Given the description of an element on the screen output the (x, y) to click on. 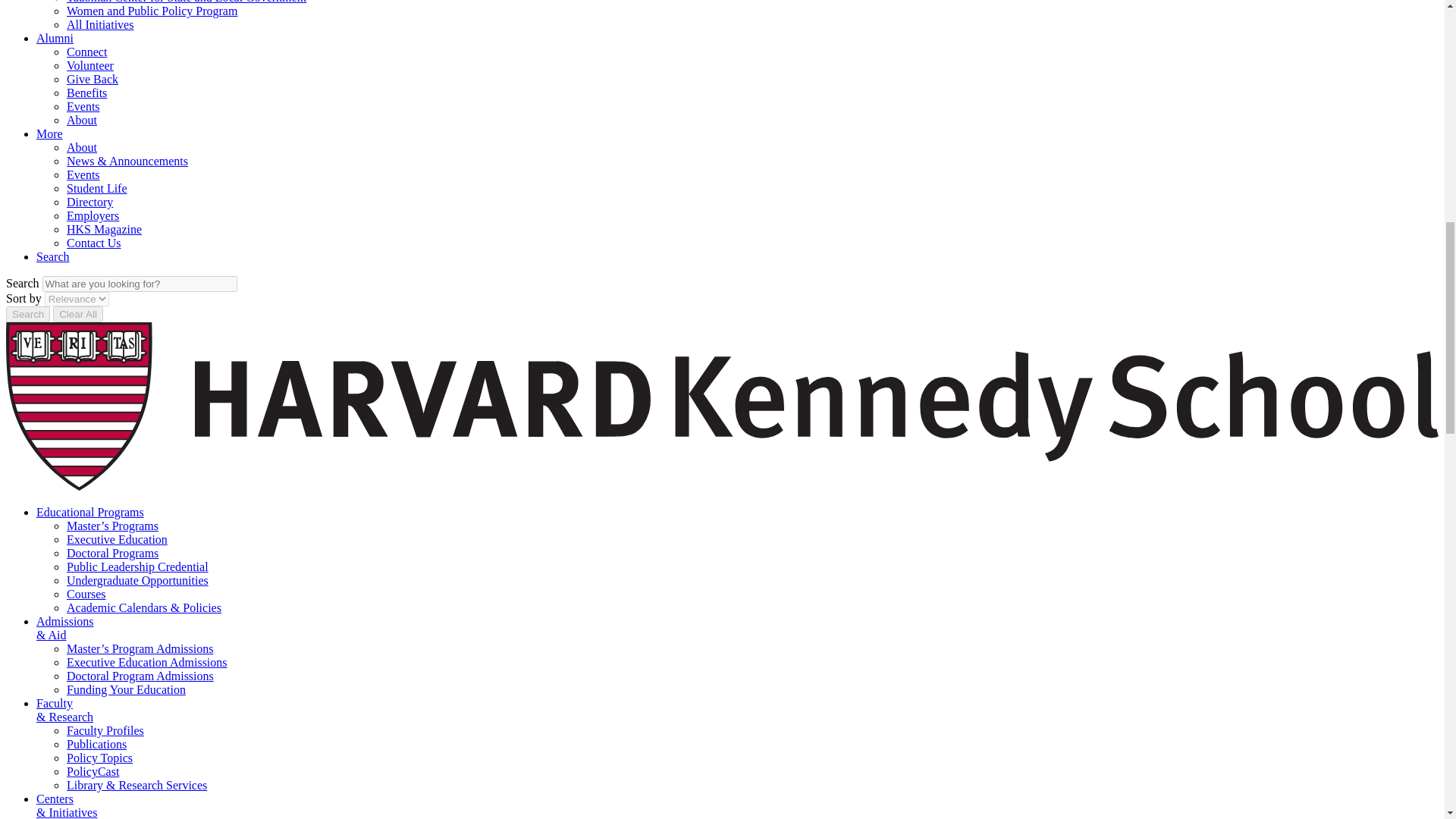
Volunteer (89, 65)
Connect (86, 51)
Alumni (55, 38)
Search (27, 314)
Taubman Center for State and Local Government (185, 2)
Taubman Center for State and Local Government (185, 2)
Events (83, 174)
Give Back (91, 78)
All Initiatives (99, 24)
Women and Public Policy Program (151, 10)
Clear All (77, 314)
Publications at HKS (96, 744)
